Given the description of an element on the screen output the (x, y) to click on. 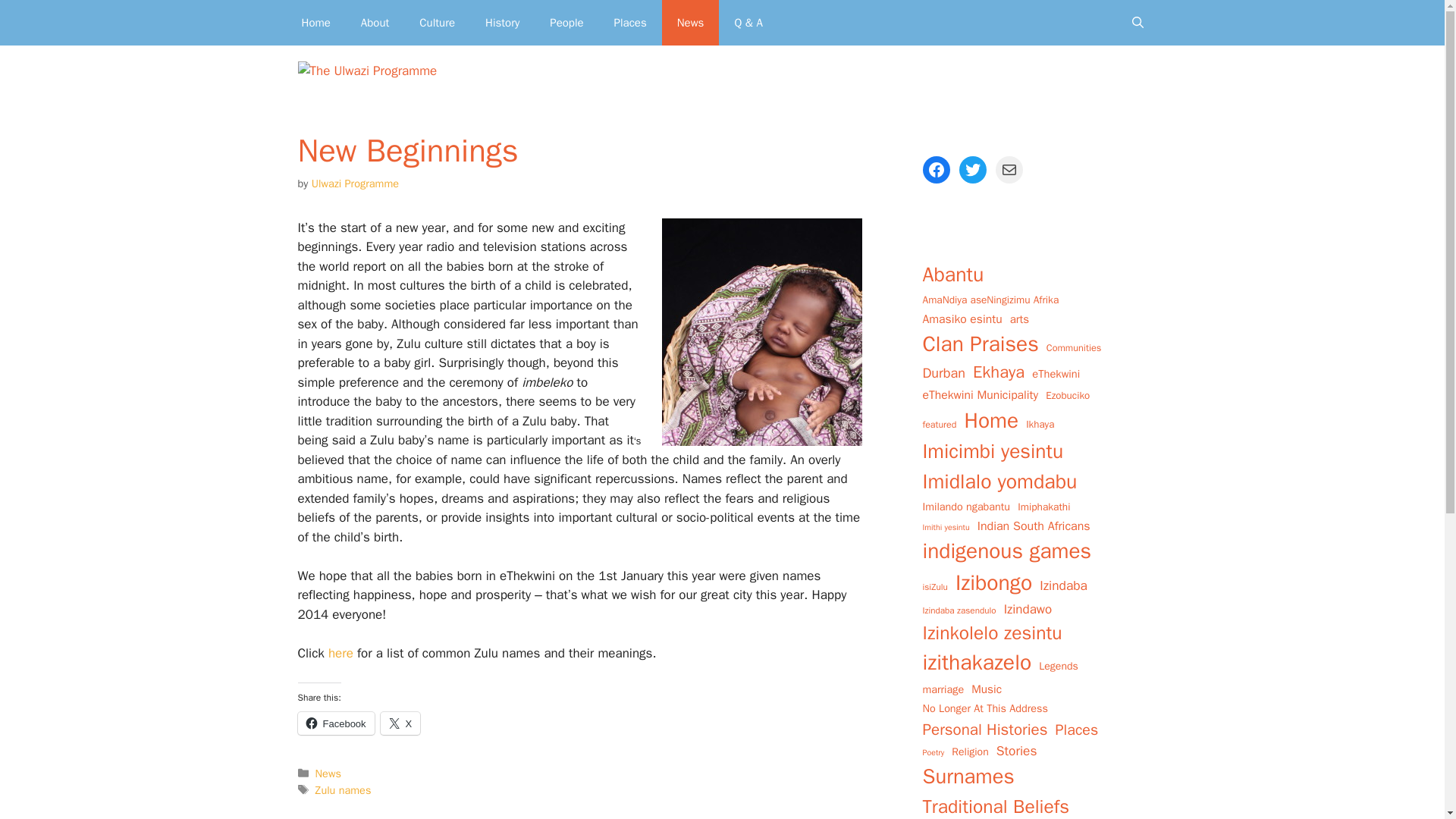
About (375, 22)
eThekwini Municipality (979, 395)
Click to share on X (400, 722)
Ikhaya (1040, 424)
View all posts by Ulwazi Programme (354, 183)
Twitter (971, 169)
Culture (437, 22)
featured (938, 424)
Home (316, 22)
eThekwini (1056, 373)
History (502, 22)
Clan Praises (979, 344)
Zulu names (343, 789)
Abantu (952, 274)
here (342, 652)
